Given the description of an element on the screen output the (x, y) to click on. 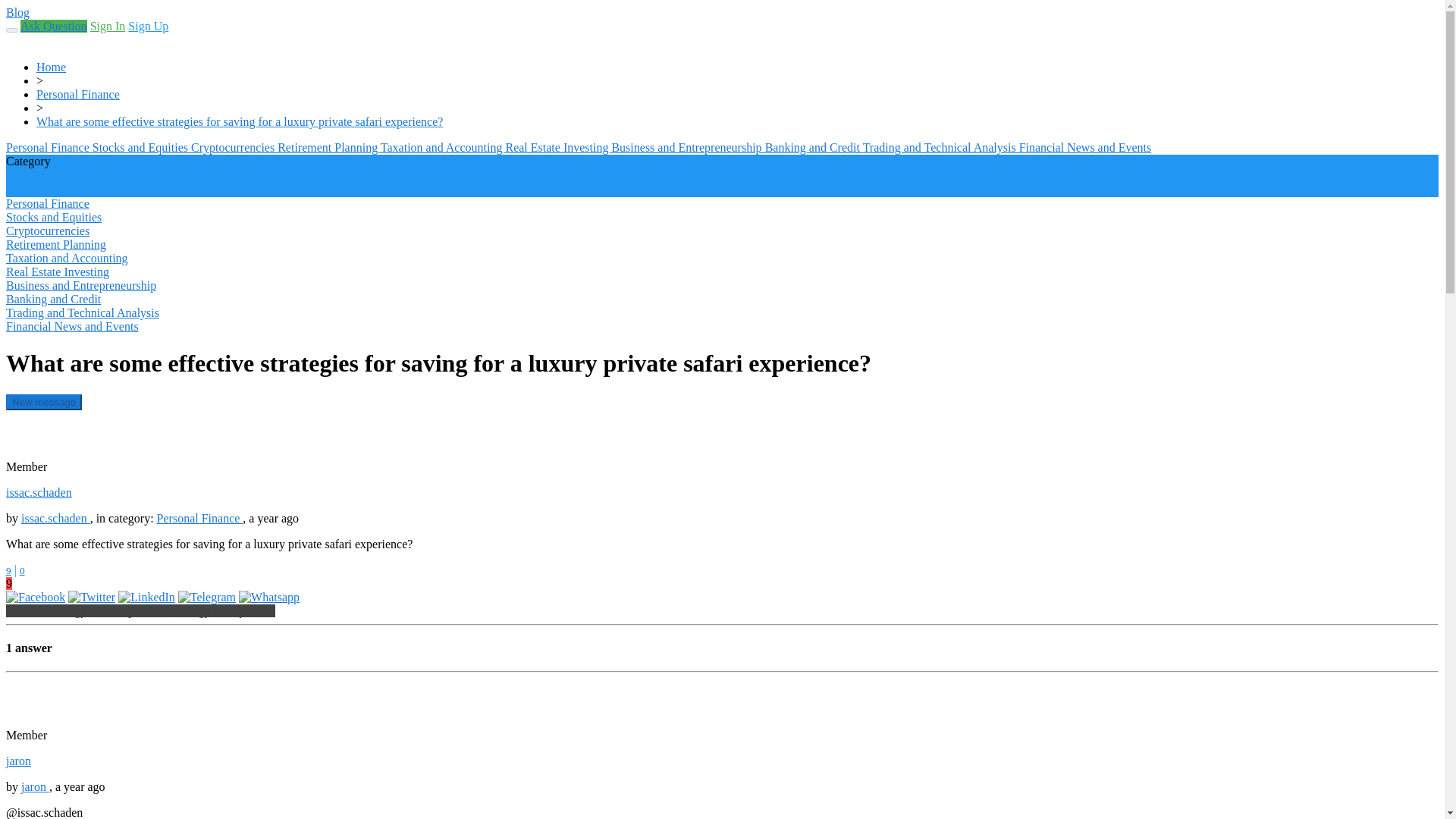
Personal Finance (49, 146)
Personal Finance (77, 93)
Telegram (206, 596)
Retirement Planning (329, 146)
New message (43, 401)
issac.schaden (55, 517)
Business and Entrepreneurship (687, 146)
Blog (17, 11)
Cryptocurrencies (234, 146)
Real Estate Investing (558, 146)
LinkedIn (145, 596)
Whatsapp (268, 596)
Trading and Technical Analysis (941, 146)
Ask Question (53, 25)
